Given the description of an element on the screen output the (x, y) to click on. 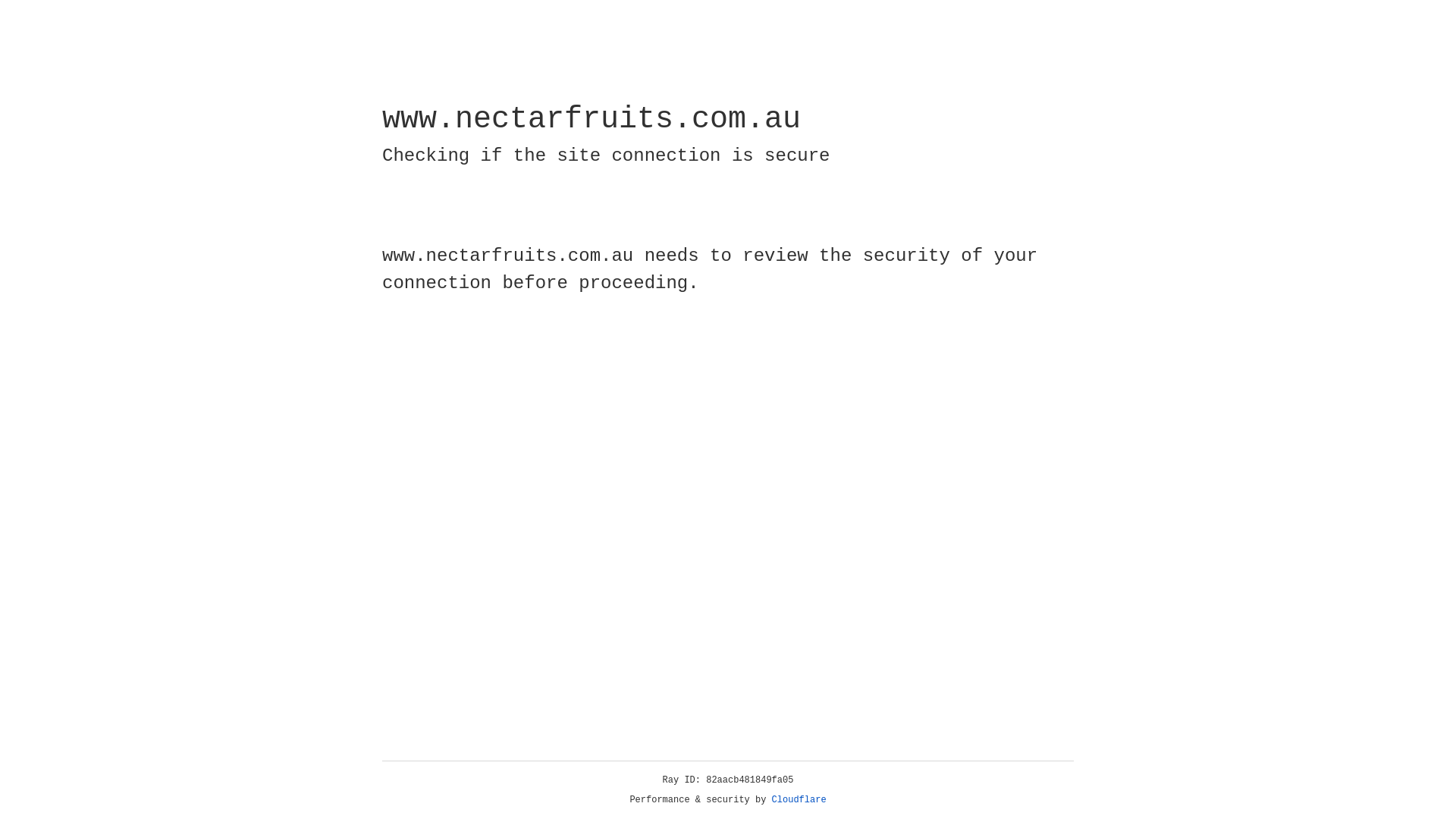
Cloudflare Element type: text (798, 799)
